Given the description of an element on the screen output the (x, y) to click on. 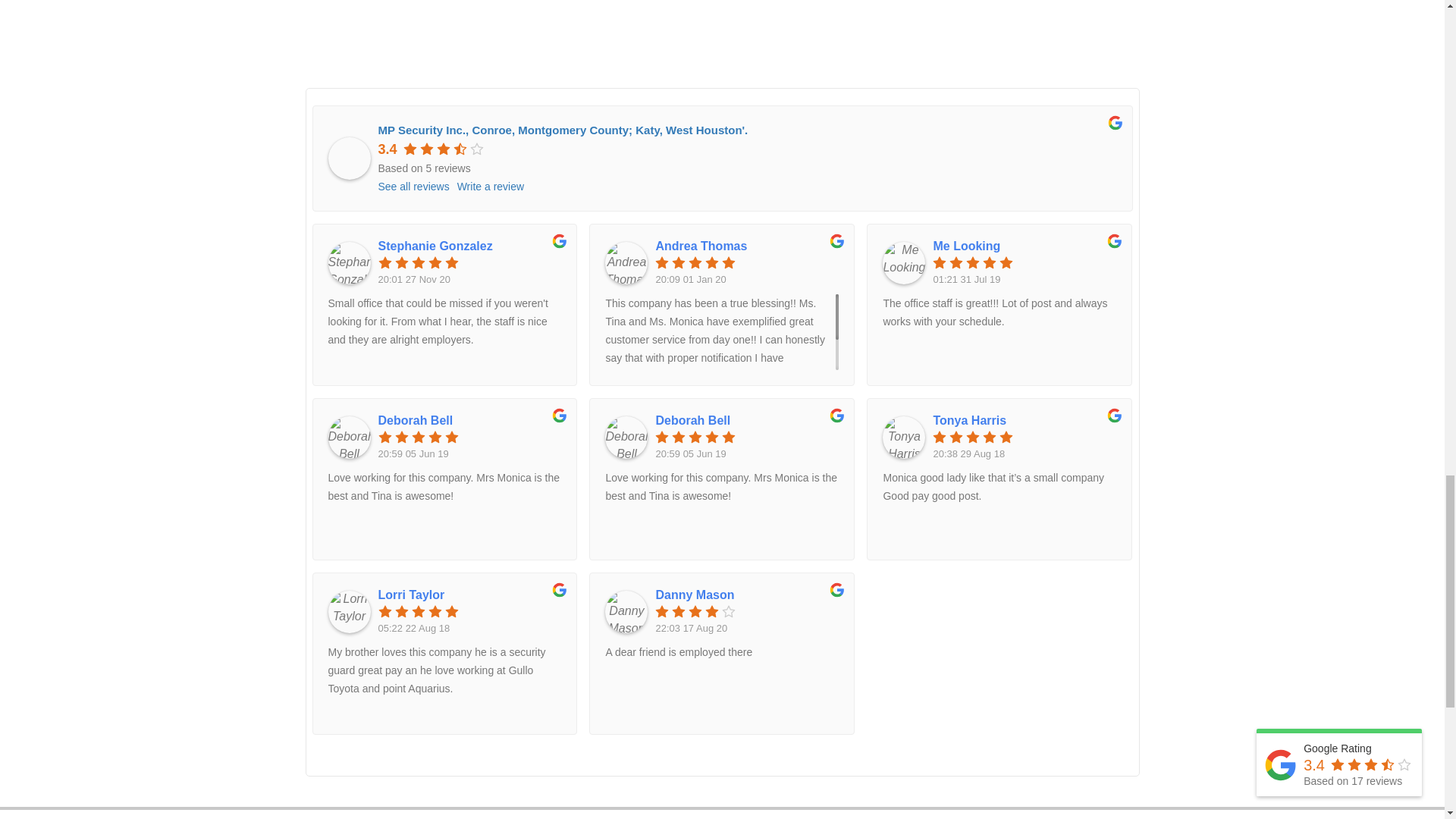
Stephanie Gonzalez (468, 246)
Me Looking (1024, 246)
Andrea Thomas (746, 246)
Deborah Bell (746, 420)
Deborah Bell (468, 420)
